Given the description of an element on the screen output the (x, y) to click on. 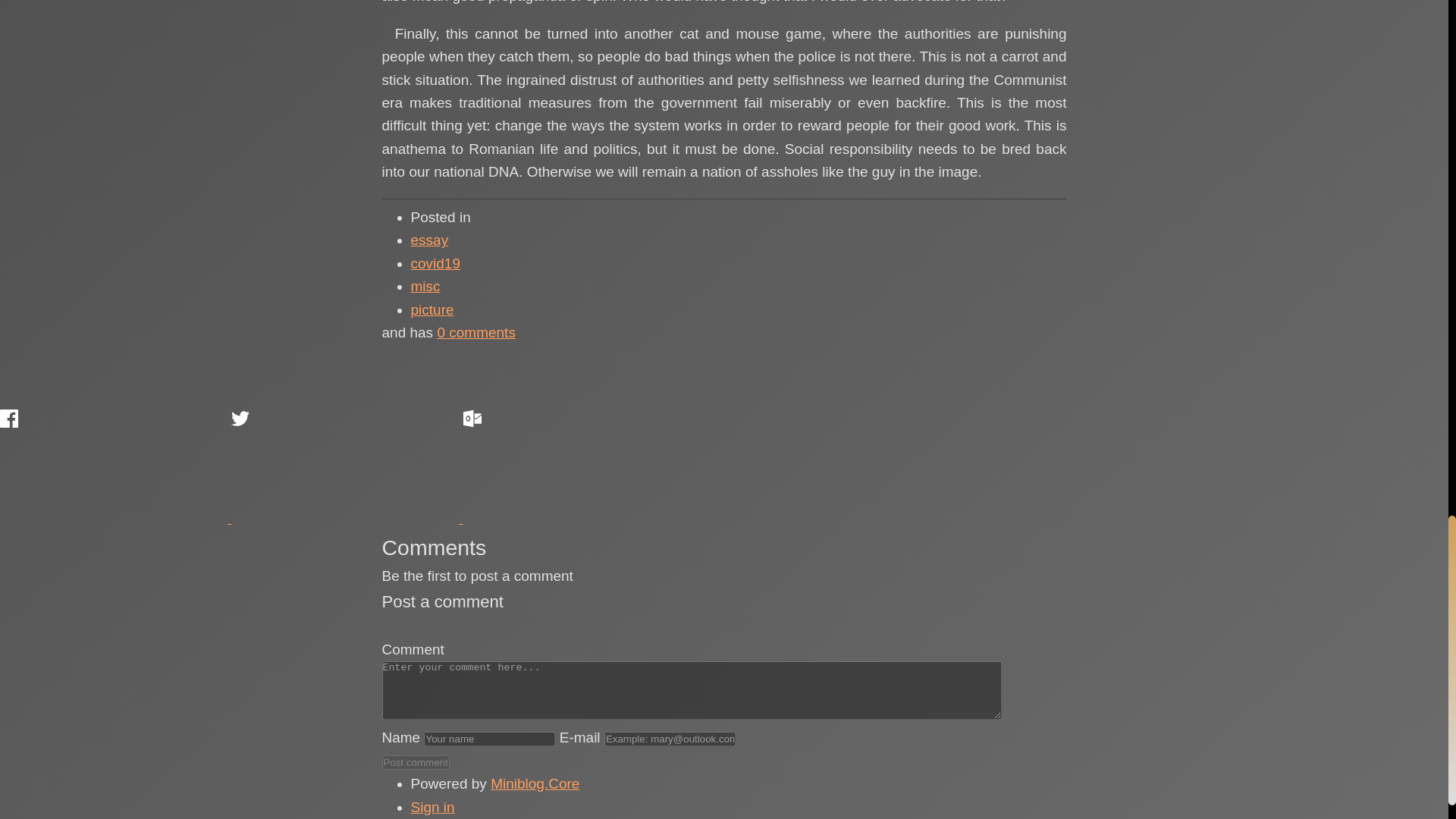
Email (576, 466)
Share on Facebook (113, 466)
Post comment (415, 762)
Share on Twitter (344, 466)
Go to the comments section (475, 332)
